Given the description of an element on the screen output the (x, y) to click on. 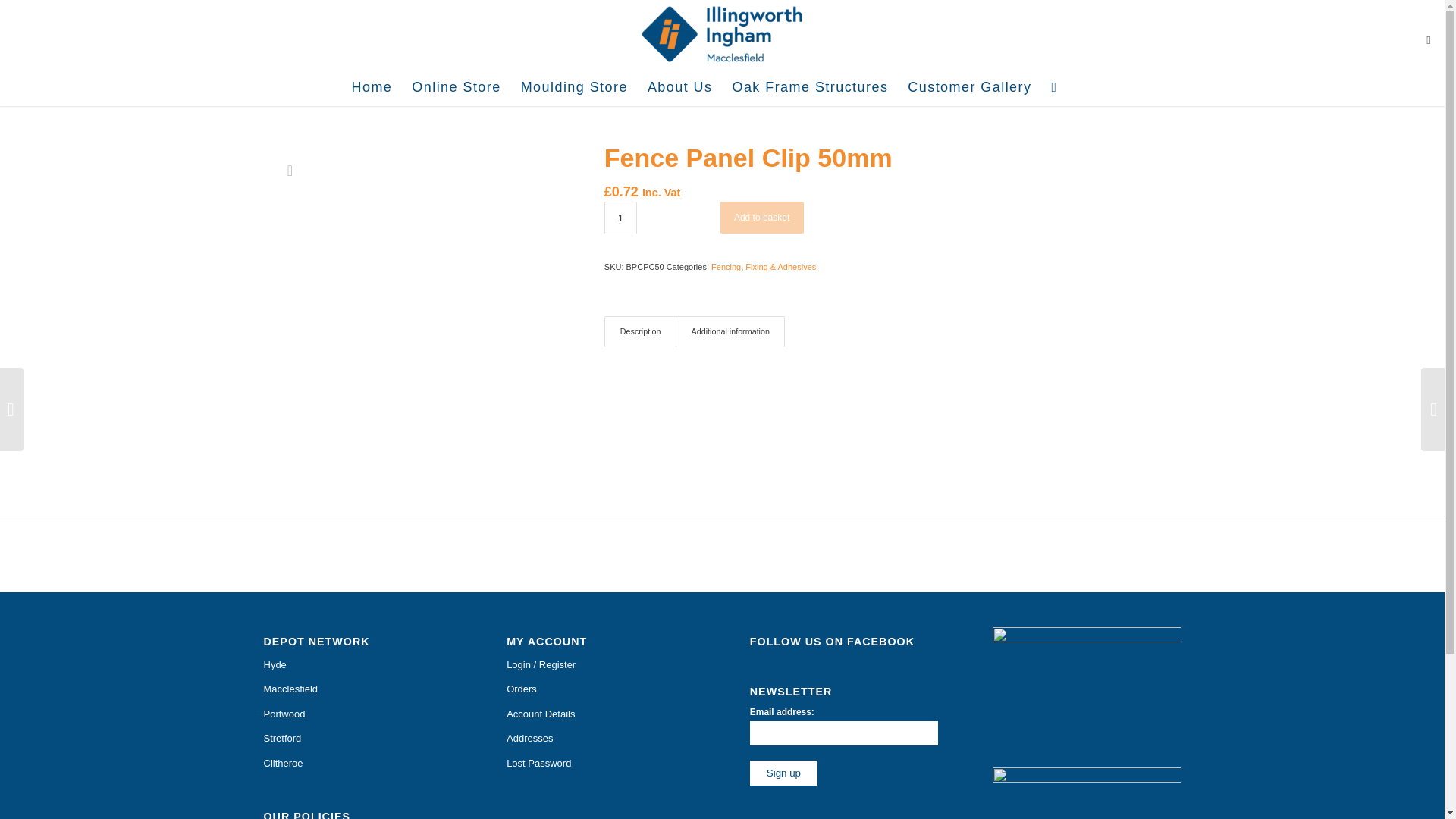
Sign up (782, 772)
1 (620, 217)
Online Store (456, 86)
Home (372, 86)
